Given the description of an element on the screen output the (x, y) to click on. 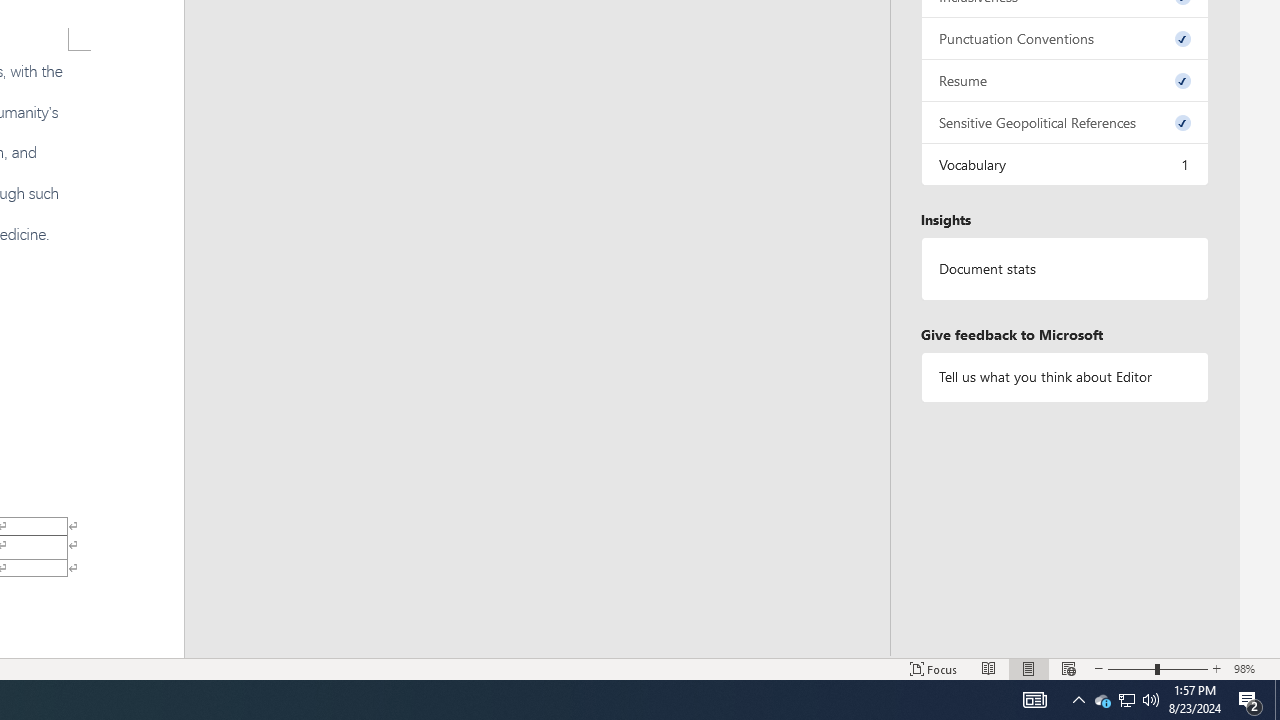
Tell us what you think about Editor (1064, 376)
Document statistics (1064, 269)
Resume, 0 issues. Press space or enter to review items. (1064, 79)
Vocabulary, 1 issue. Press space or enter to review items. (1064, 164)
